Given the description of an element on the screen output the (x, y) to click on. 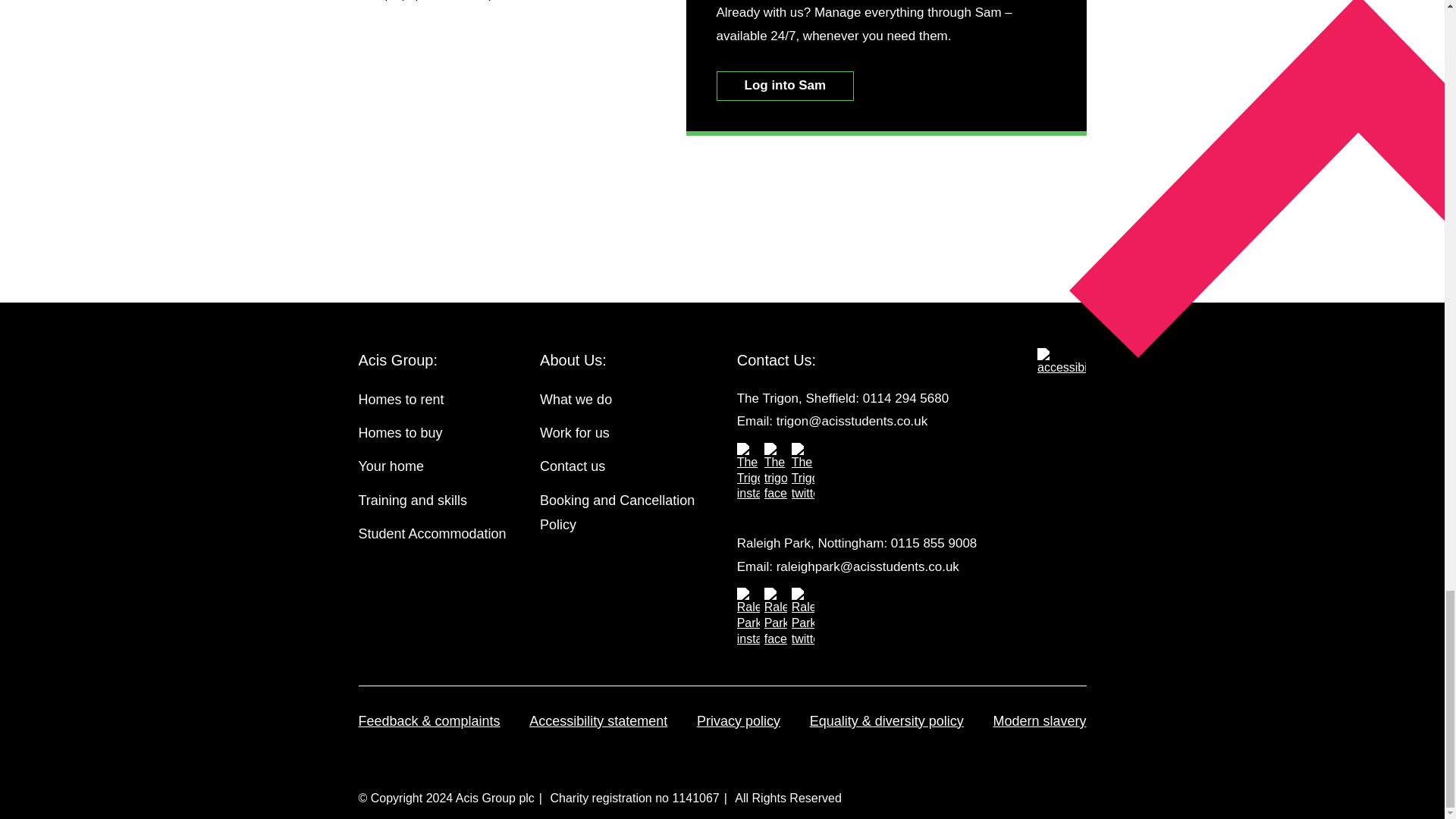
Contact us (623, 470)
Manage your booking - Log into Sam (784, 85)
Homes to buy (441, 437)
Your home (441, 470)
Training and skills (441, 504)
Accessibility (1061, 361)
0114 294 5680 (906, 397)
Student Accommodation (441, 538)
Homes to rent (441, 403)
Booking and Cancellation Policy (623, 517)
What we do (623, 403)
Work for us (623, 437)
Log into Sam (784, 85)
